Given the description of an element on the screen output the (x, y) to click on. 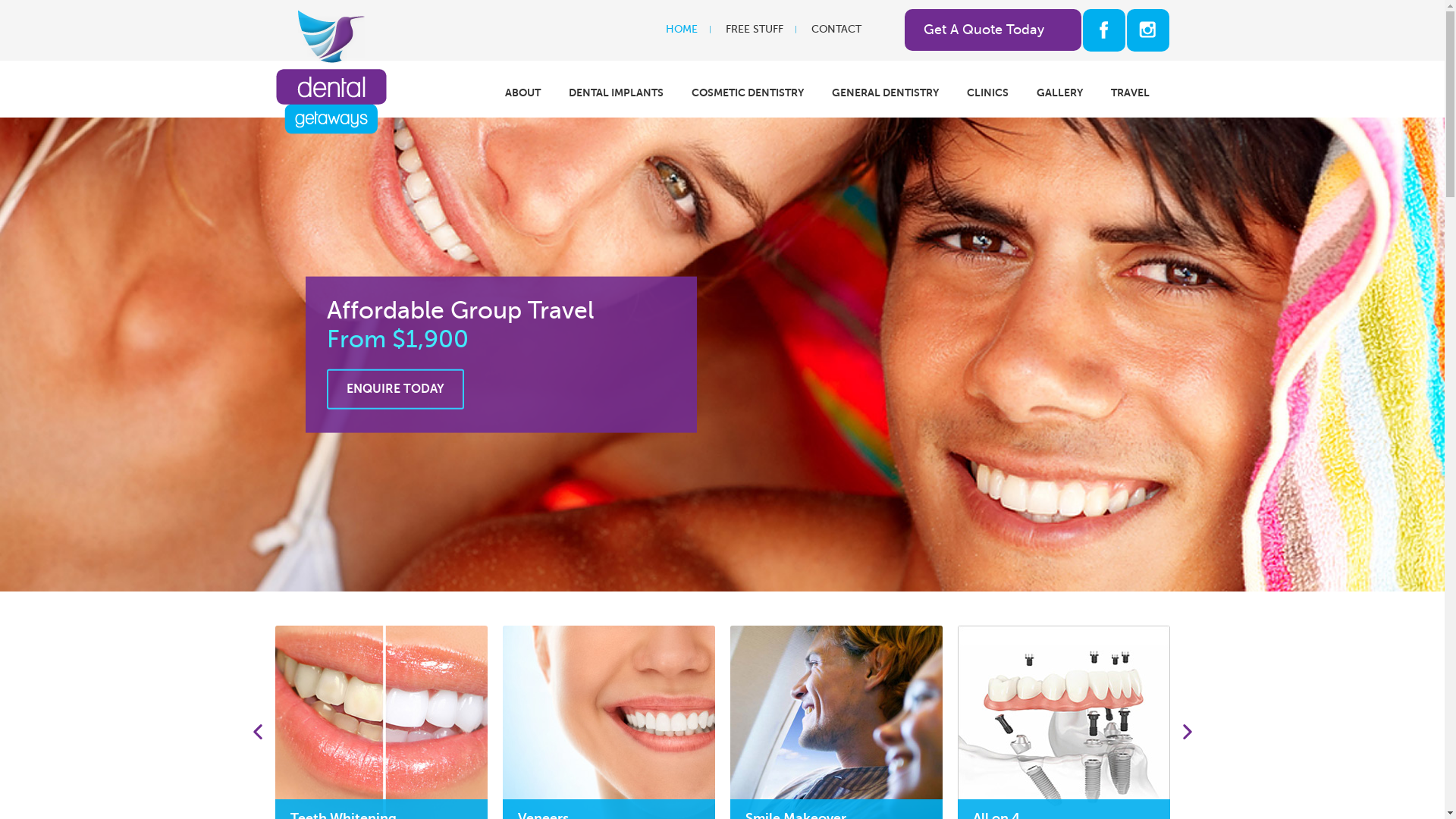
Next Element type: text (1186, 731)
Instagram Element type: text (1147, 30)
Dental Getaways Element type: hover (330, 15)
Facebook Element type: text (1103, 30)
HOME Element type: text (681, 29)
Previous Element type: text (27, 354)
FREE STUFF Element type: text (753, 29)
Next Element type: text (1416, 354)
Prev Element type: text (256, 731)
CONTACT Element type: text (836, 29)
ENQUIRE TODAY Element type: text (394, 389)
